Given the description of an element on the screen output the (x, y) to click on. 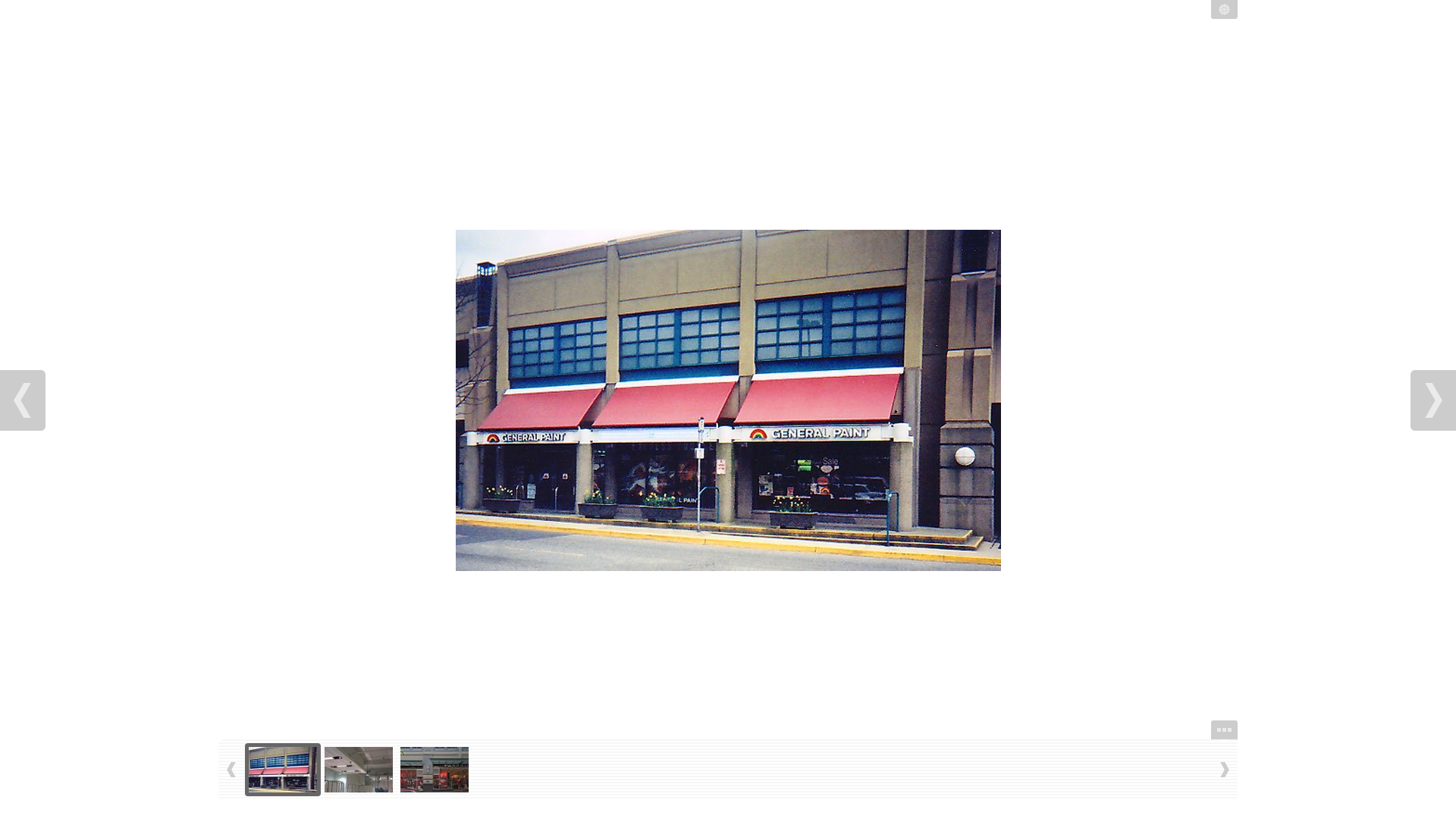
  Element type: text (1224, 731)
  Element type: text (22, 400)
